Given the description of an element on the screen output the (x, y) to click on. 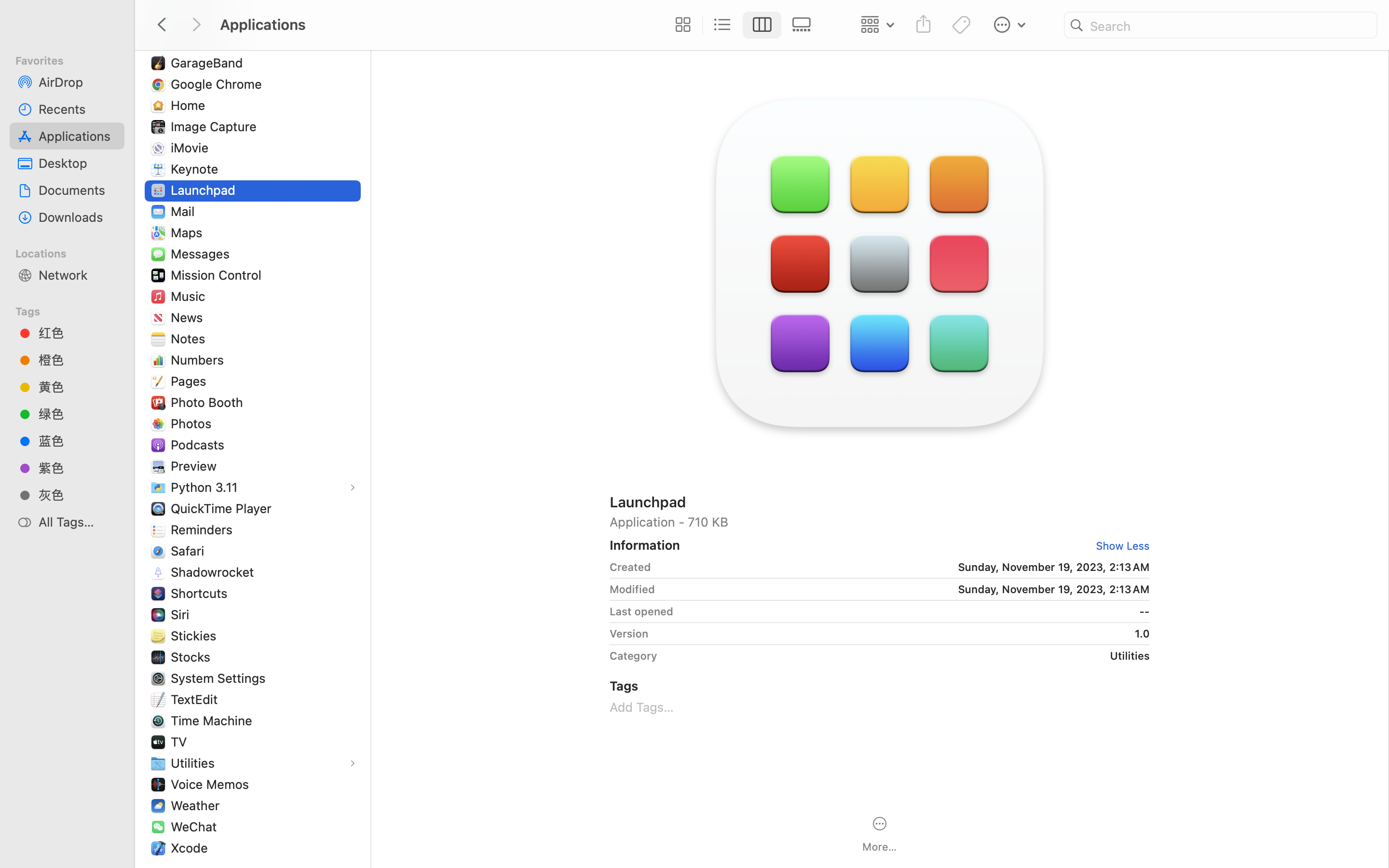
Information Element type: AXStaticText (644, 544)
Maps Element type: AXTextField (188, 232)
Numbers Element type: AXTextField (199, 359)
1 Element type: AXRadioButton (762, 24)
Python 3.11 Element type: AXTextField (206, 486)
